Given the description of an element on the screen output the (x, y) to click on. 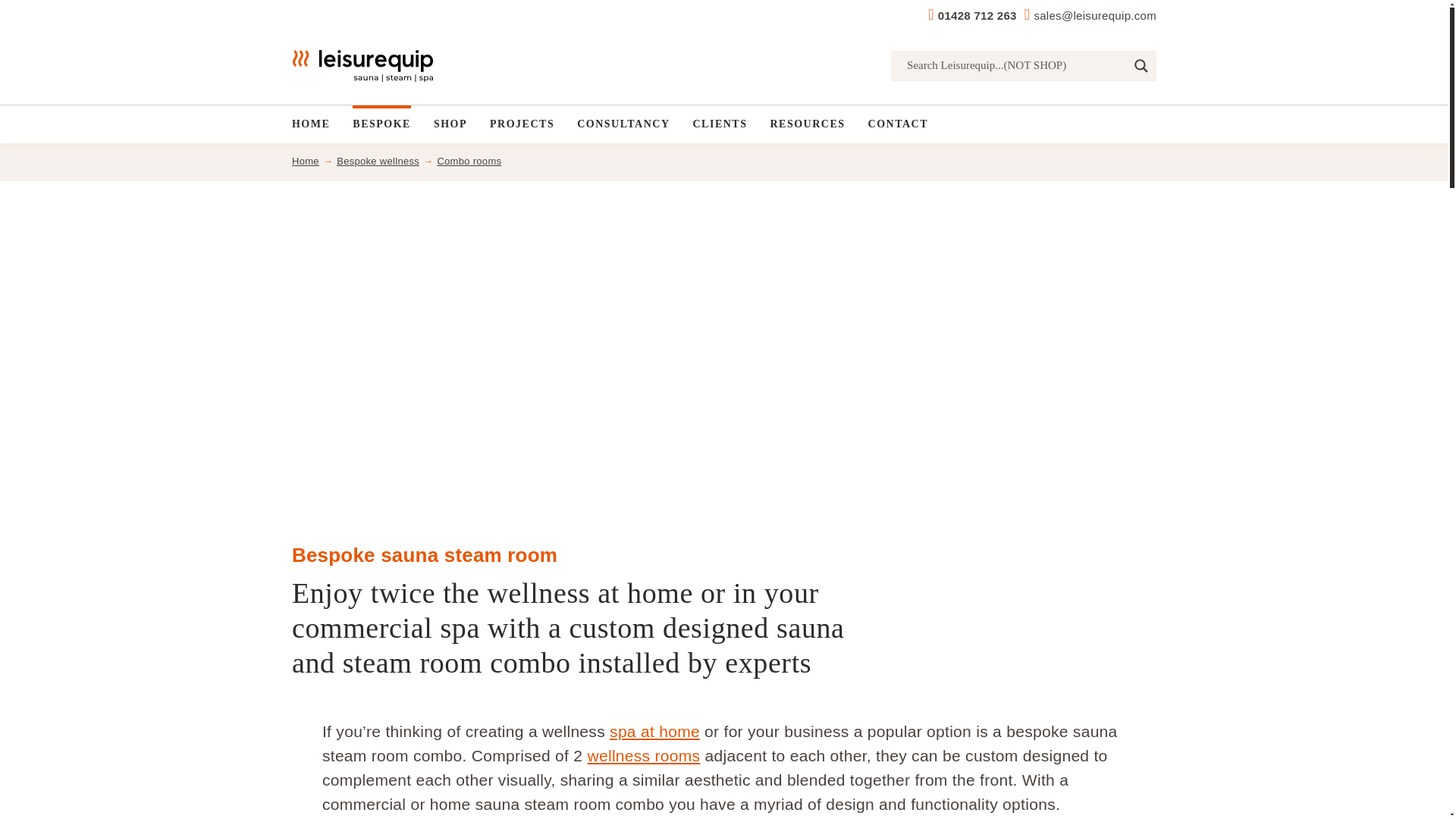
01428 712 263 (976, 15)
HOME (311, 124)
BESPOKE (381, 124)
